Given the description of an element on the screen output the (x, y) to click on. 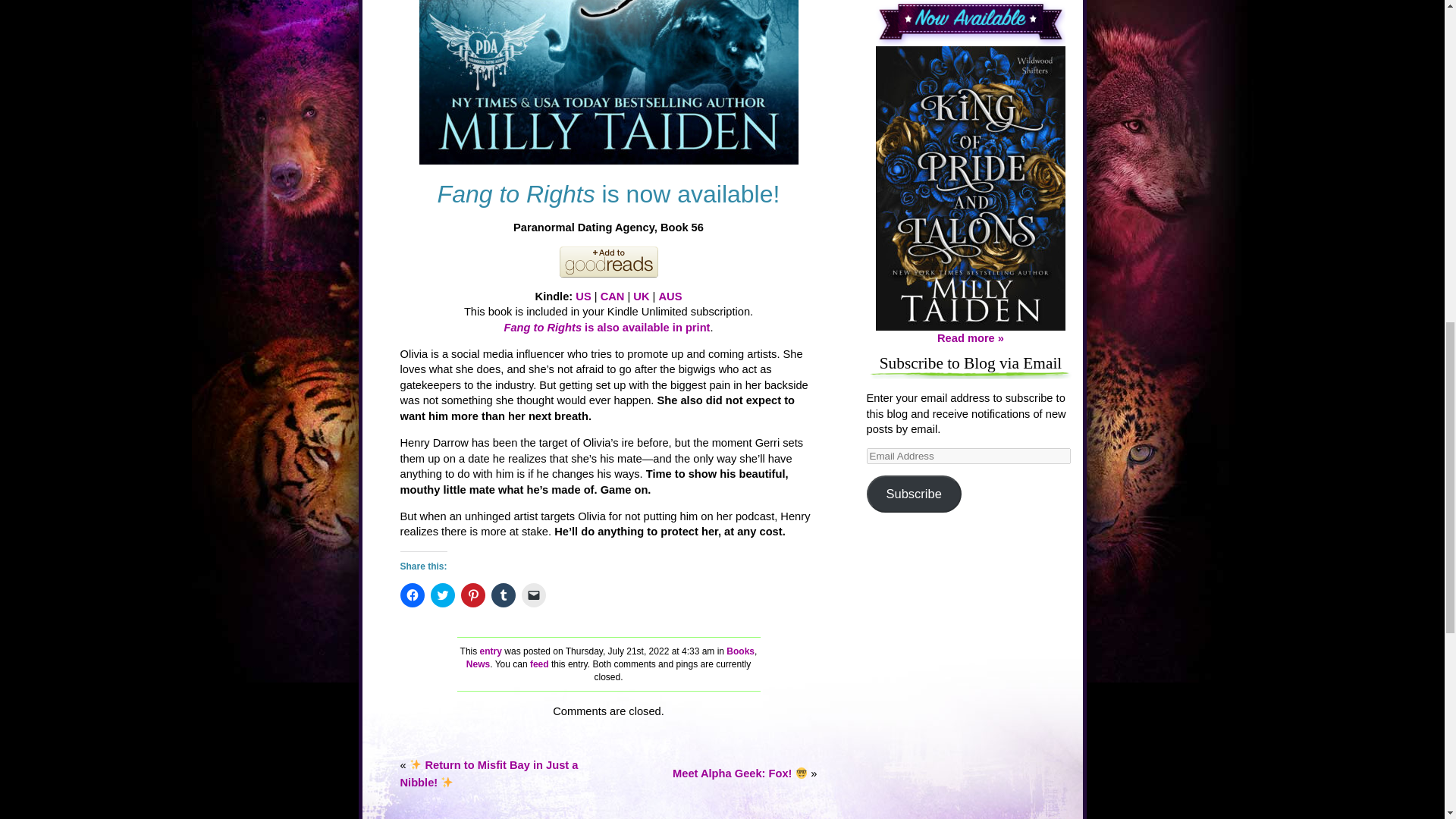
News (477, 664)
UK (641, 296)
Fang to Rights is also available in print (606, 327)
CAN (611, 296)
entry (491, 651)
AUS (669, 296)
feed (538, 664)
Return to Misfit Bay in Just a Nibble! (489, 773)
US (583, 296)
Books (740, 651)
